Given the description of an element on the screen output the (x, y) to click on. 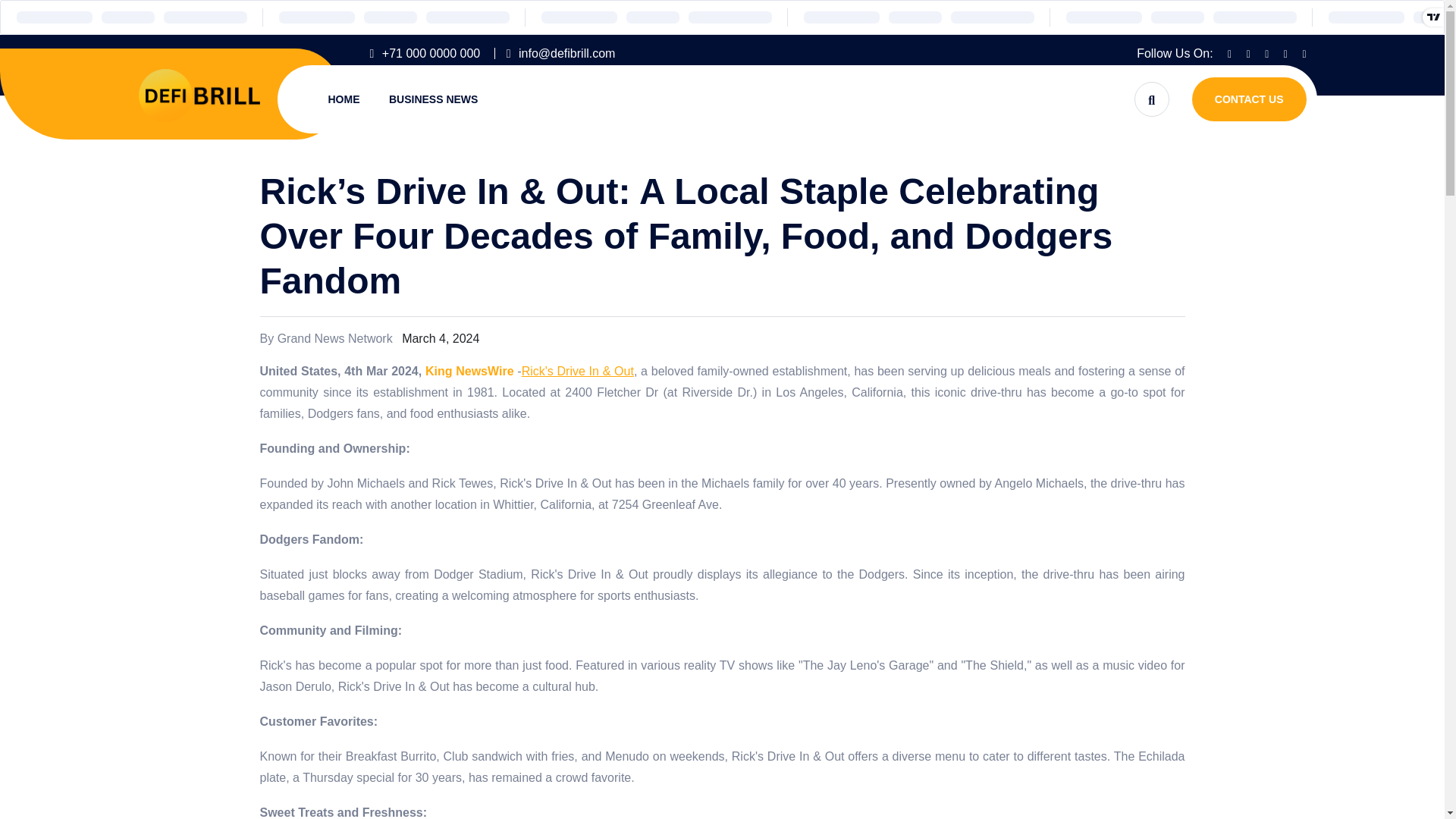
Grand News Network (335, 338)
BUSINESS NEWS (432, 99)
King NewsWire (469, 370)
CONTACT US (1249, 98)
HOME (343, 99)
